Given the description of an element on the screen output the (x, y) to click on. 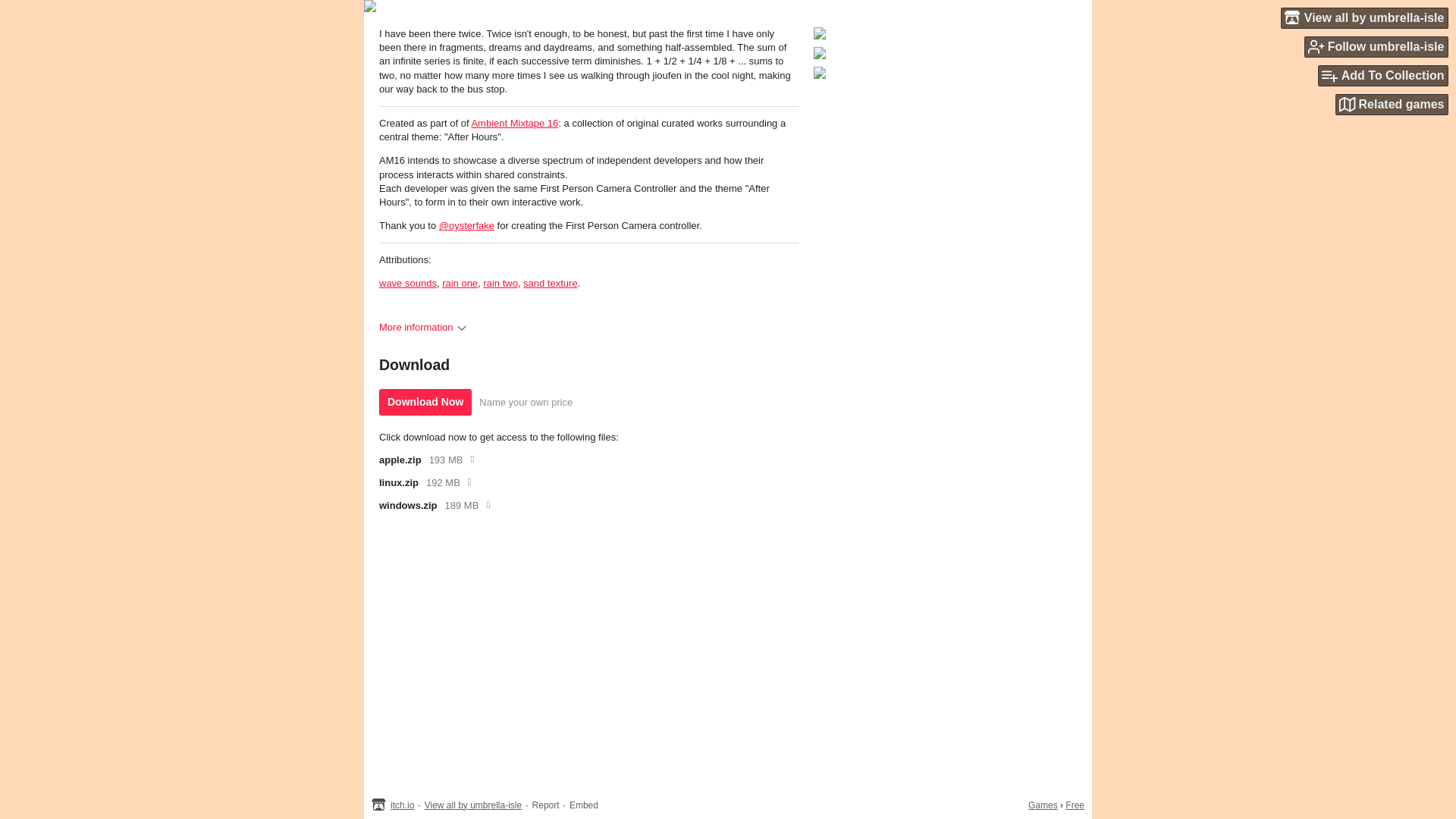
apple.zip (400, 460)
Related games (1391, 104)
itch.io (401, 804)
Free (1074, 804)
Embed (583, 804)
Report (545, 804)
rain two (500, 283)
Add To Collection (1382, 75)
windows.zip (408, 505)
Games (1042, 804)
